Given the description of an element on the screen output the (x, y) to click on. 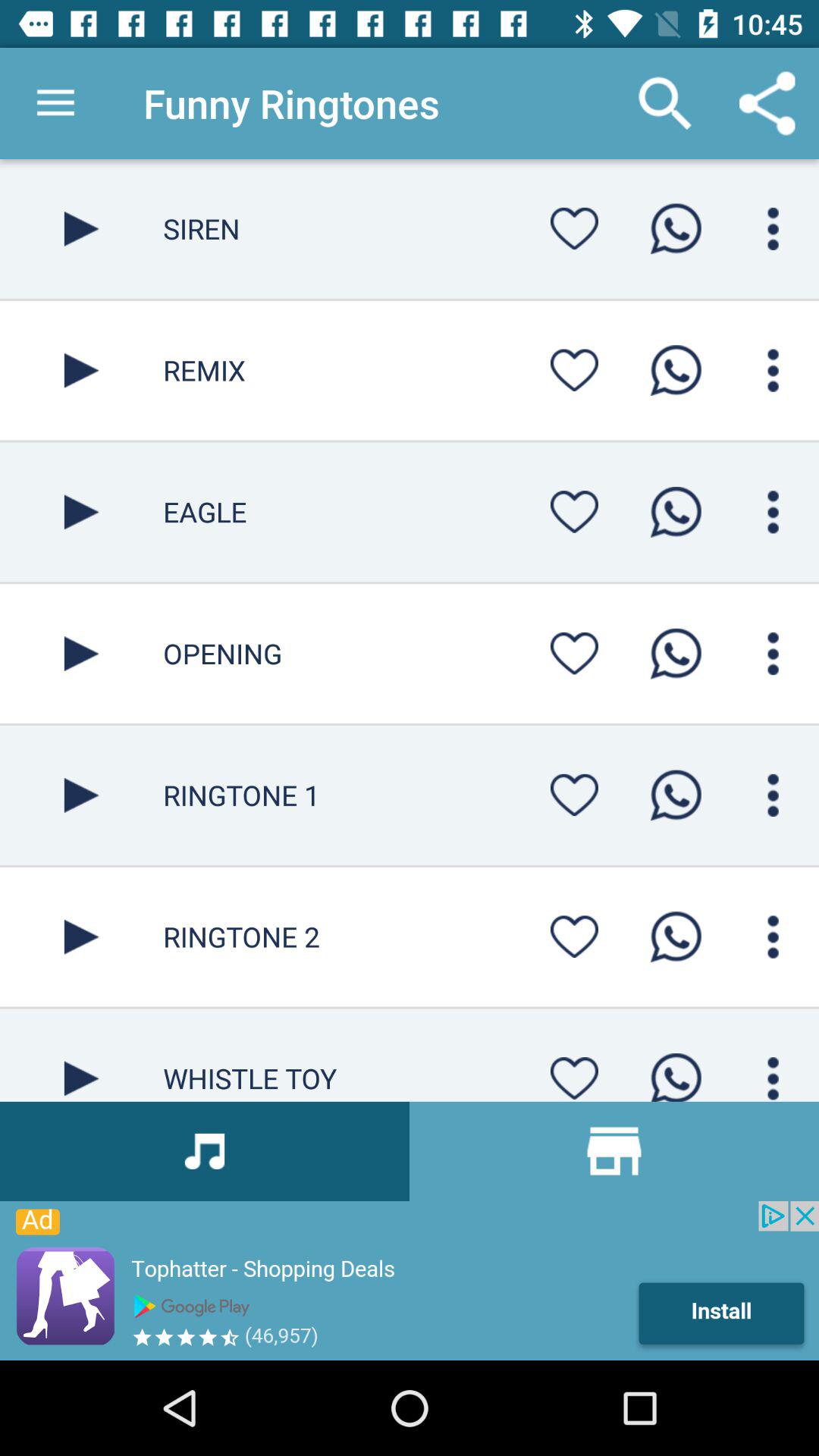
call selected contact (675, 794)
